Given the description of an element on the screen output the (x, y) to click on. 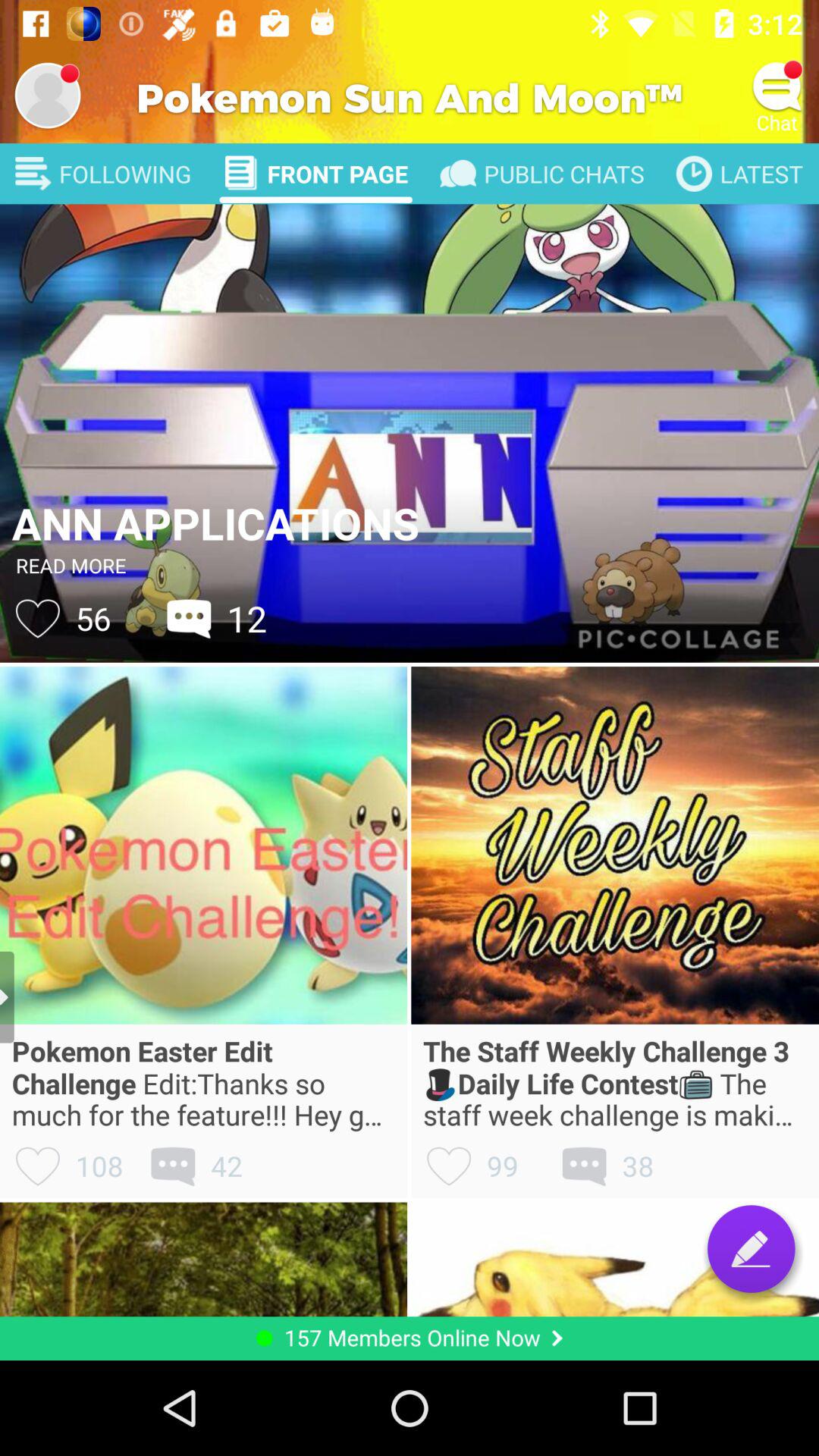
open profile settings (47, 95)
